Given the description of an element on the screen output the (x, y) to click on. 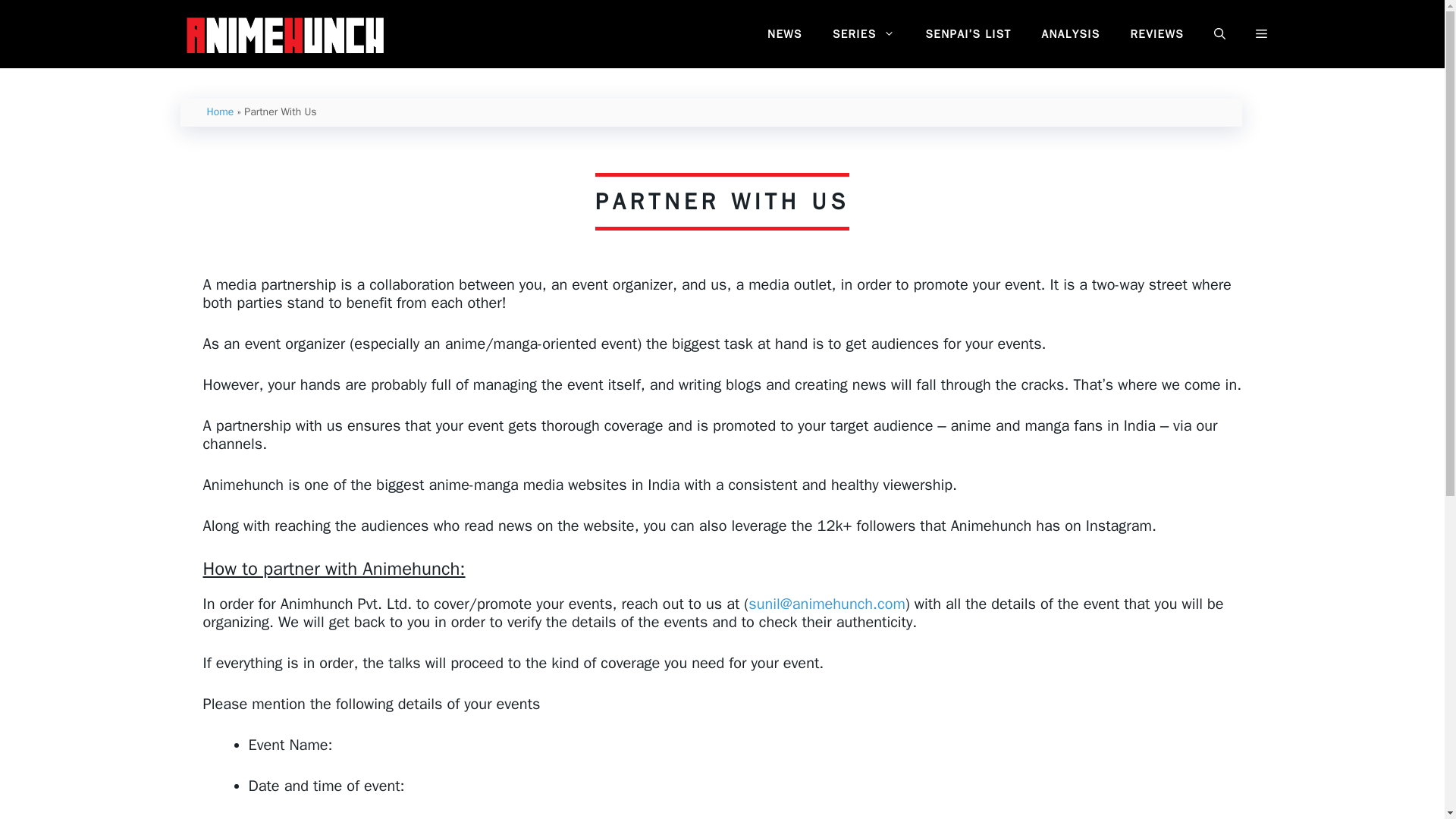
SERIES (863, 34)
ANALYSIS (1070, 34)
REVIEWS (1156, 34)
NEWS (784, 34)
